Given the description of an element on the screen output the (x, y) to click on. 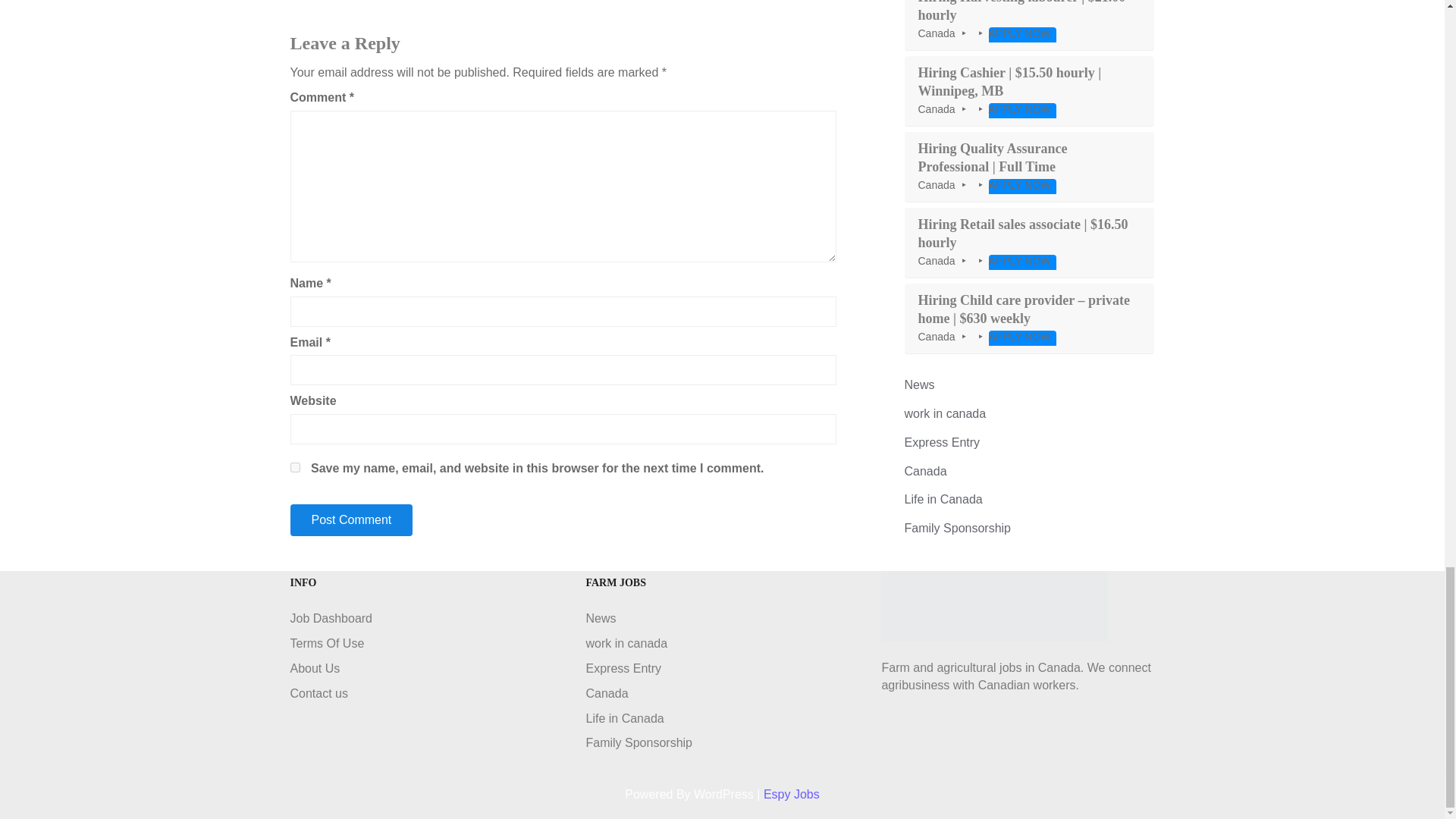
Post Comment (350, 520)
yes (294, 467)
Post Comment (350, 520)
